Given the description of an element on the screen output the (x, y) to click on. 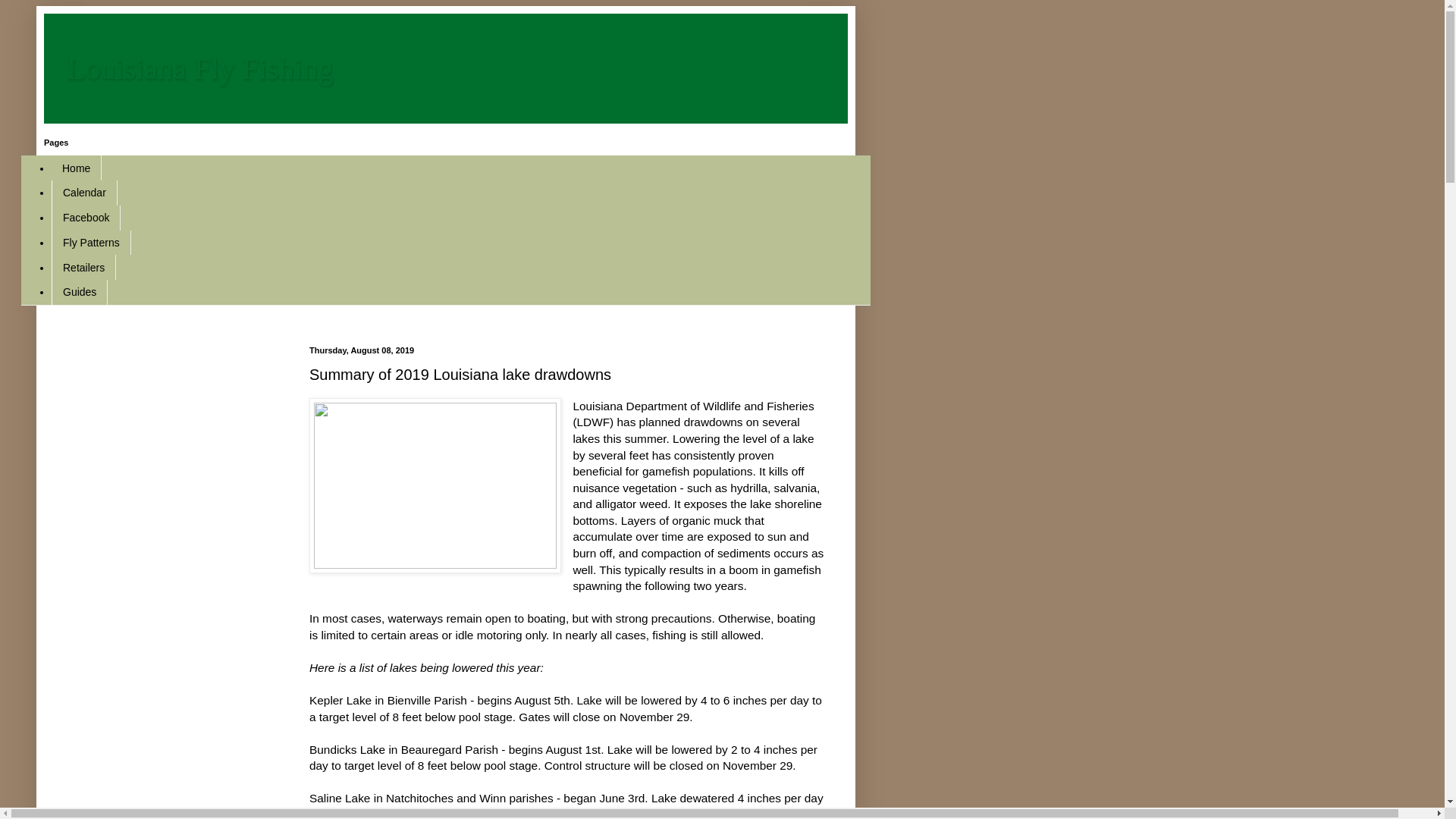
Home (75, 167)
Guides (78, 292)
Louisiana Fly Fishing (199, 68)
Retailers (83, 267)
Calendar (83, 192)
Fly Patterns (90, 242)
Facebook (85, 217)
